Given the description of an element on the screen output the (x, y) to click on. 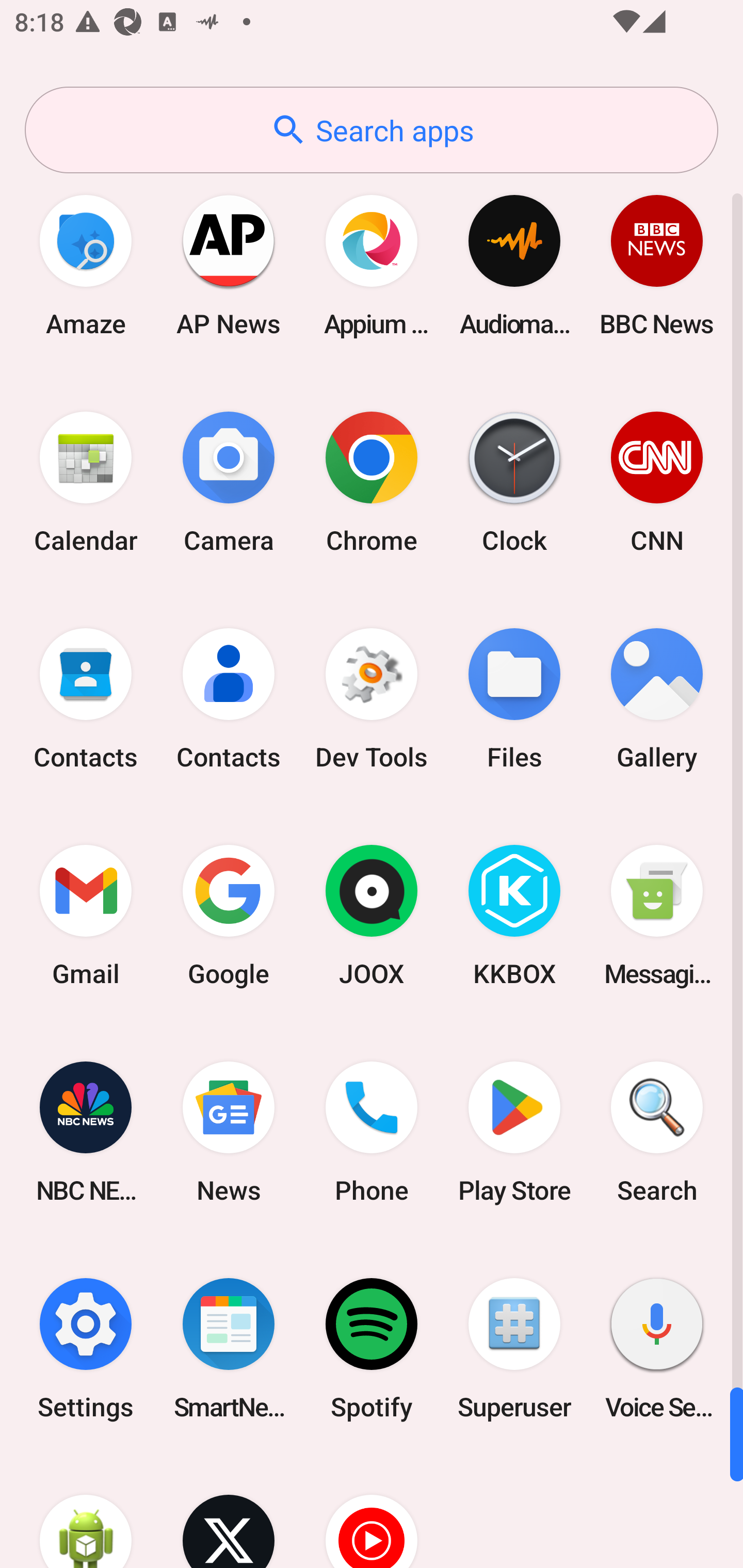
  Search apps (371, 130)
Amaze (85, 264)
AP News (228, 264)
Appium Settings (371, 264)
Audio­mack (514, 264)
BBC News (656, 264)
Calendar (85, 482)
Camera (228, 482)
Chrome (371, 482)
Clock (514, 482)
CNN (656, 482)
Contacts (85, 699)
Contacts (228, 699)
Dev Tools (371, 699)
Files (514, 699)
Gallery (656, 699)
Gmail (85, 915)
Google (228, 915)
JOOX (371, 915)
KKBOX (514, 915)
Messaging (656, 915)
NBC NEWS (85, 1131)
News (228, 1131)
Phone (371, 1131)
Play Store (514, 1131)
Search (656, 1131)
Settings (85, 1348)
SmartNews (228, 1348)
Spotify (371, 1348)
Superuser (514, 1348)
Voice Search (656, 1348)
